Given the description of an element on the screen output the (x, y) to click on. 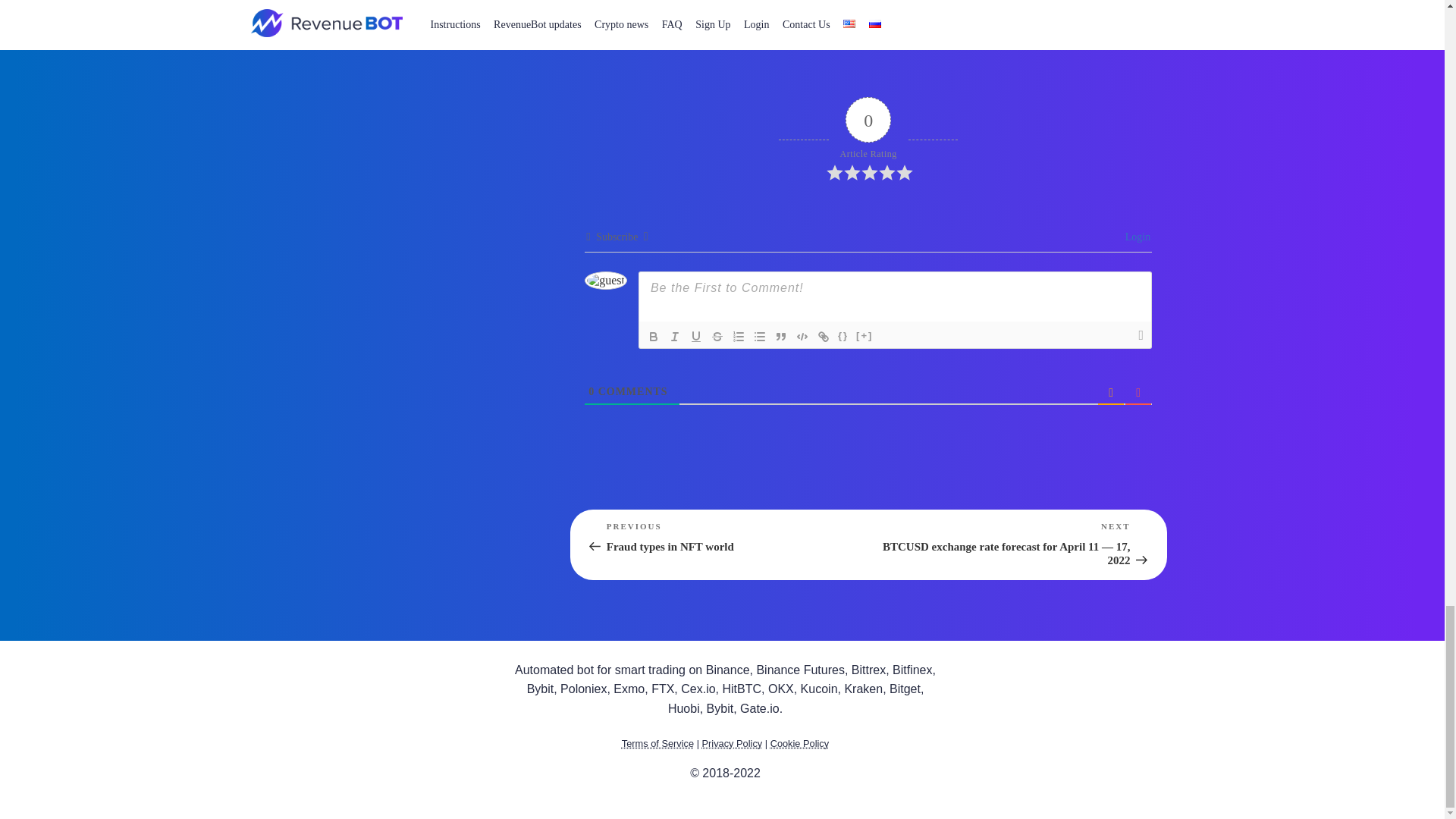
Strike (717, 336)
ordered (738, 336)
Login (1135, 236)
Code Block (802, 336)
Ordered List (738, 336)
bullet (759, 336)
Italic (674, 336)
Link (823, 336)
Unordered List (759, 336)
Bold (653, 336)
Spoiler (863, 336)
Blockquote (781, 336)
Underline (695, 336)
Source Code (842, 336)
